Given the description of an element on the screen output the (x, y) to click on. 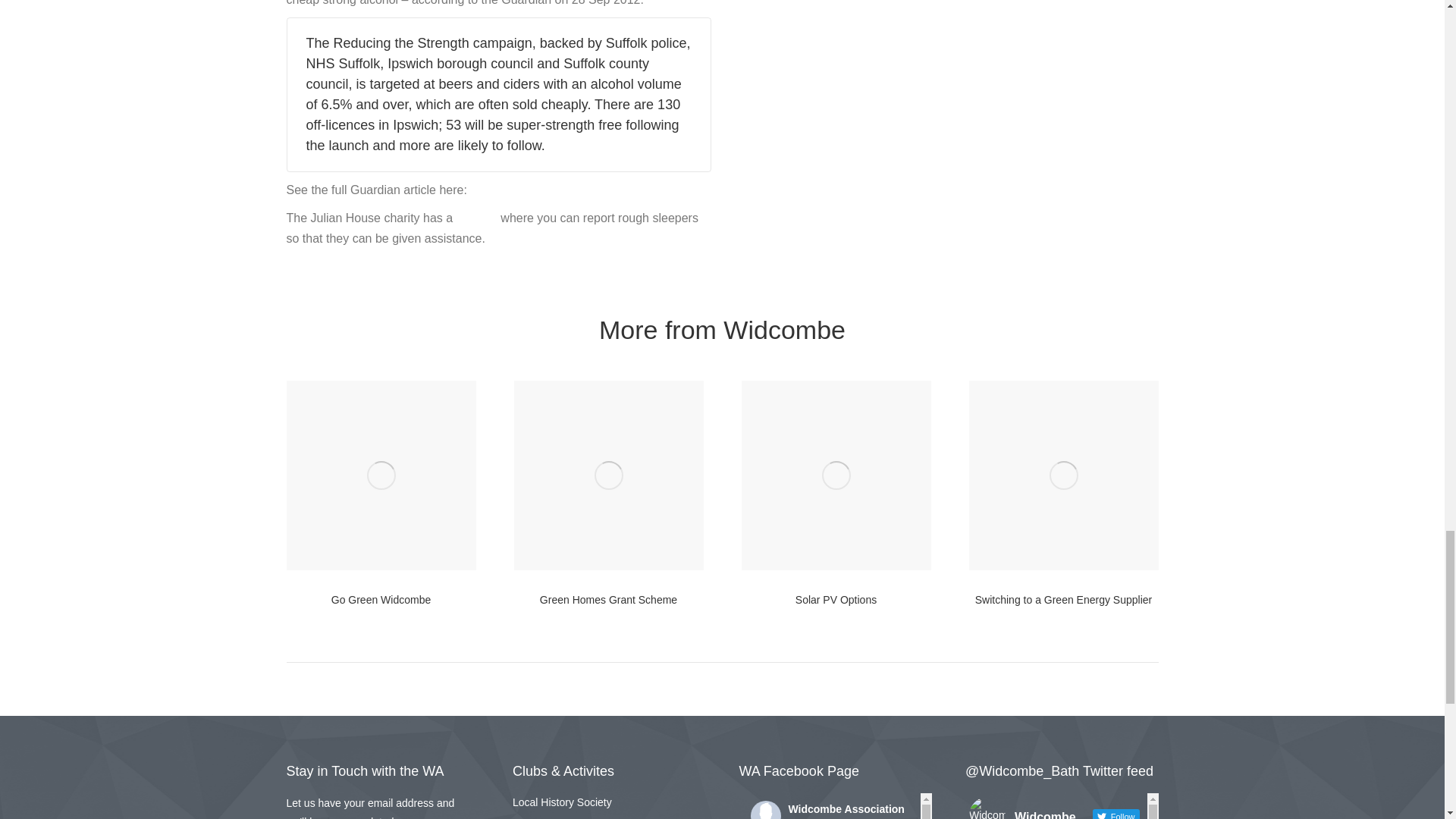
Switching to a Green Energy Supplier (1063, 599)
Go Green Widcombe (380, 599)
Green Homes Grant Scheme (608, 599)
Solar PV Options (835, 599)
